Given the description of an element on the screen output the (x, y) to click on. 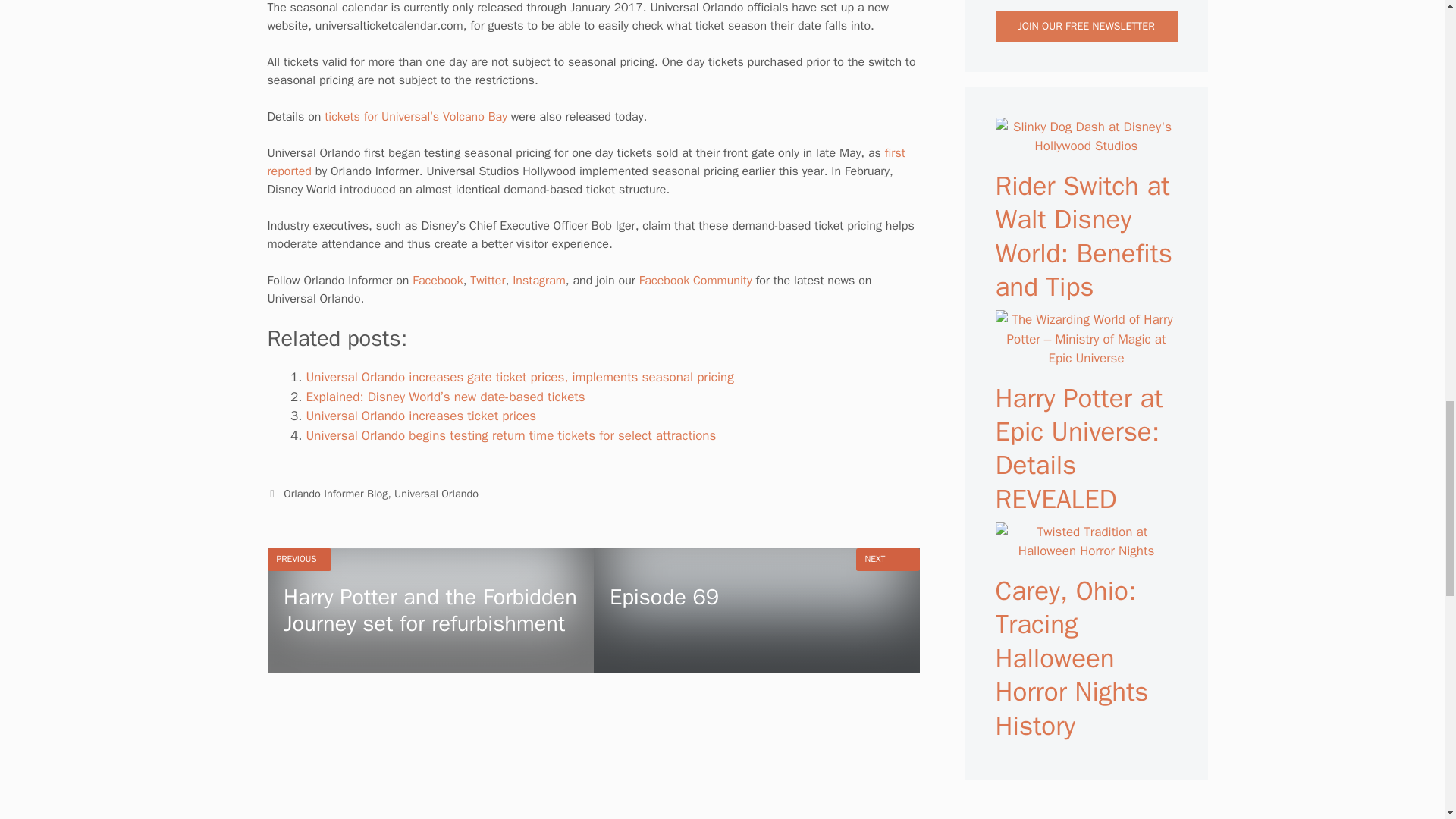
Facebook Community (695, 280)
Instagram (539, 280)
Universal Orlando increases ticket prices (421, 415)
Facebook (437, 280)
first reported (585, 162)
Twitter (487, 280)
Universal Orlando increases ticket prices (421, 415)
